Given the description of an element on the screen output the (x, y) to click on. 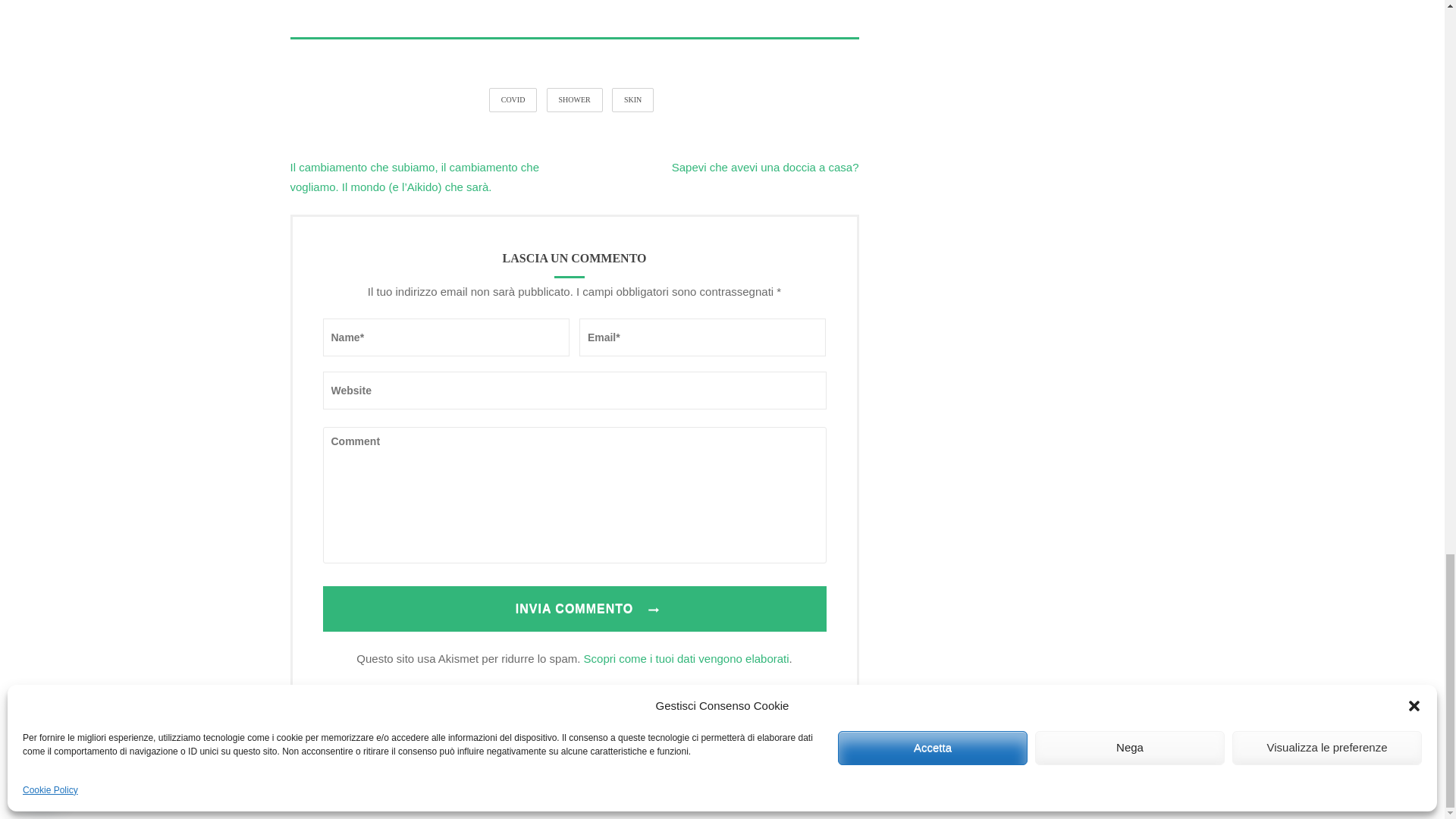
Invia commento (575, 608)
